Given the description of an element on the screen output the (x, y) to click on. 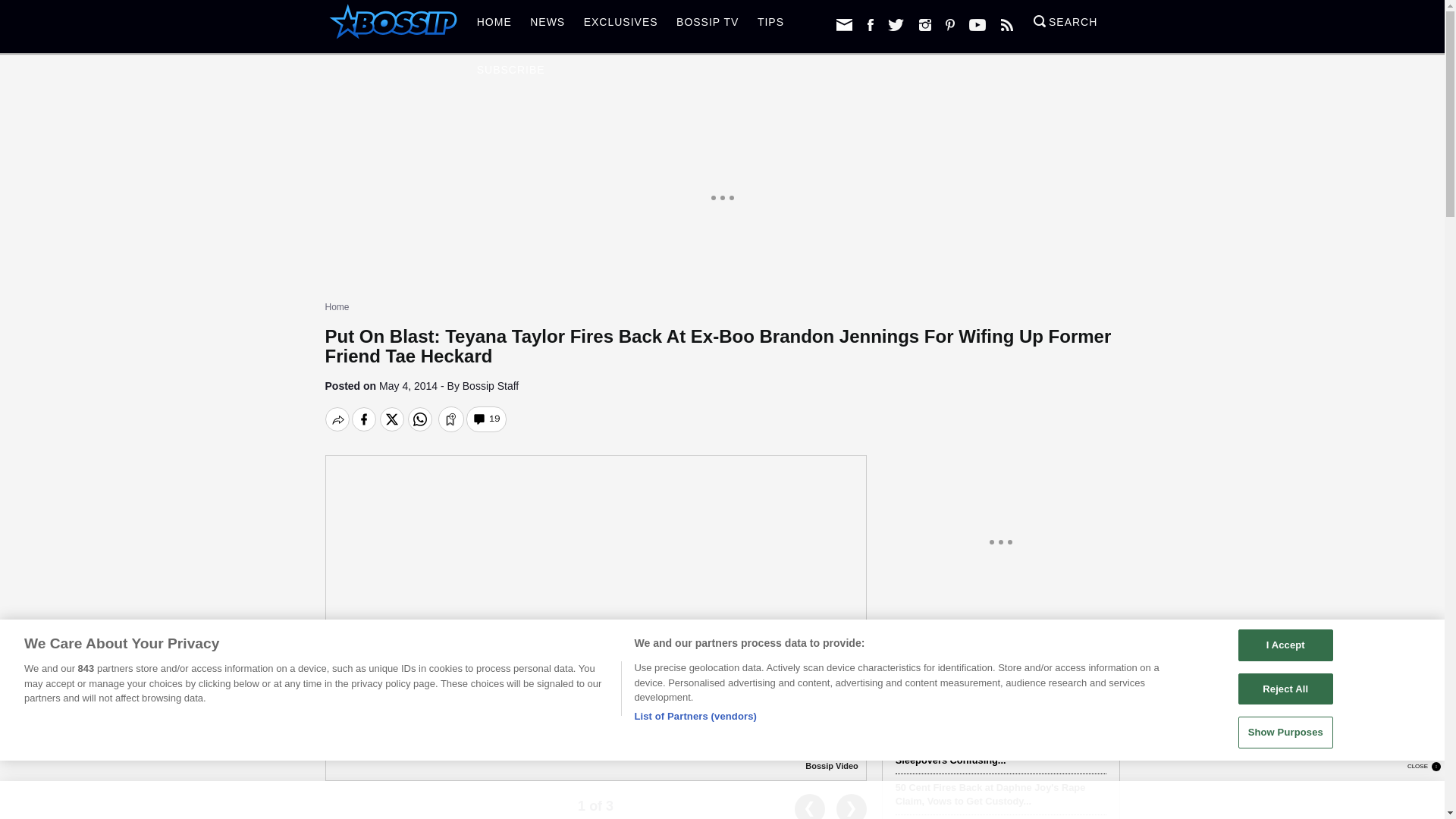
SUBSCRIBE (510, 74)
rss (1007, 24)
NEWS (547, 26)
SEARCH (1065, 26)
youtube (977, 24)
instagram (924, 24)
Vuukle Sharebar Widget (721, 416)
newsletter (843, 24)
Follow Bossip with RSS (1007, 24)
Subscribe to our newsletter (843, 24)
Home (336, 307)
twitter (896, 24)
TIPS (770, 26)
EXCLUSIVES (620, 26)
BOSSIP TV (706, 26)
